Given the description of an element on the screen output the (x, y) to click on. 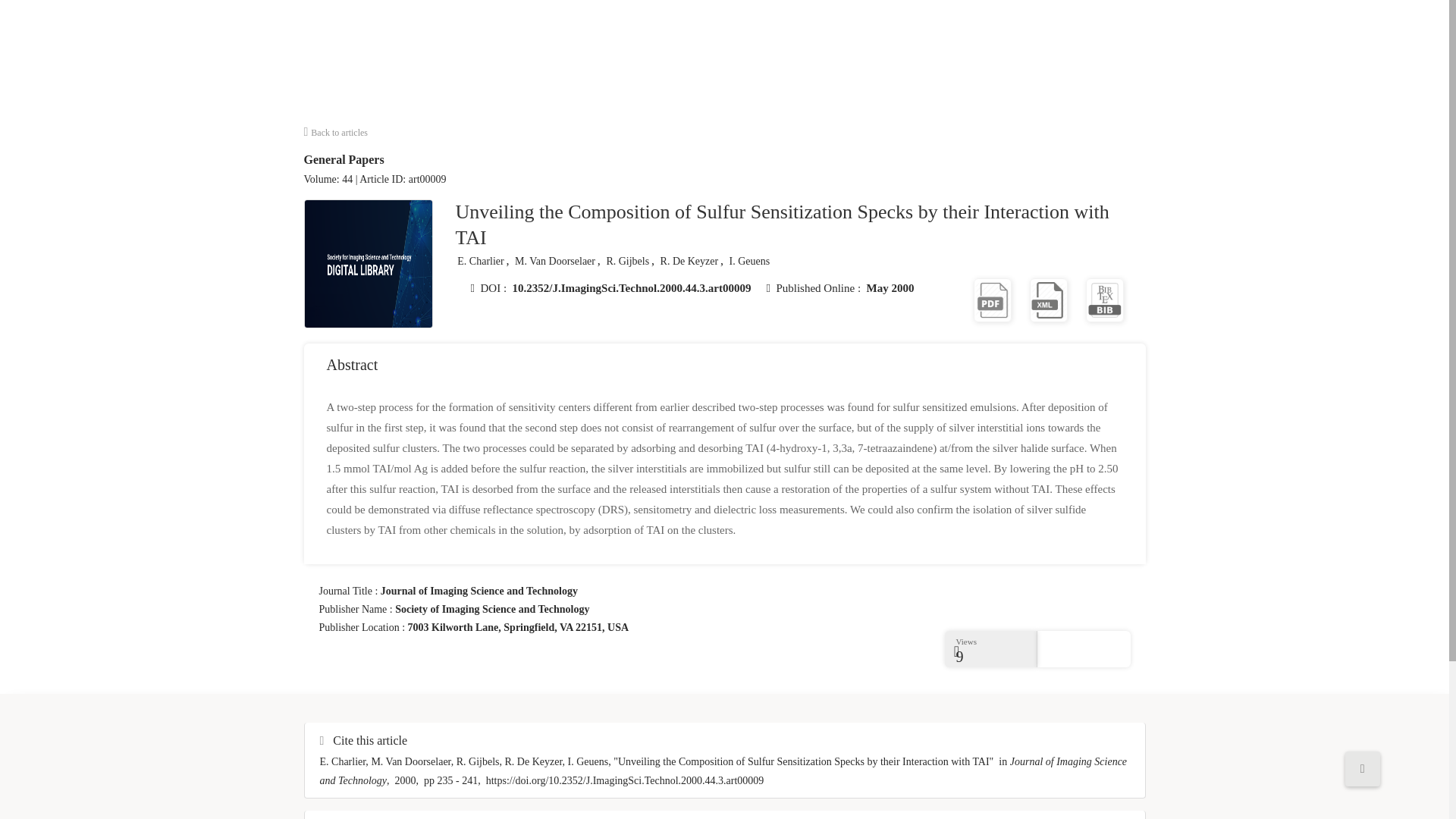
Subscribe to download (1048, 298)
Subscribe to download (992, 298)
Subscribe to download (1105, 298)
No article cover image (368, 263)
